Given the description of an element on the screen output the (x, y) to click on. 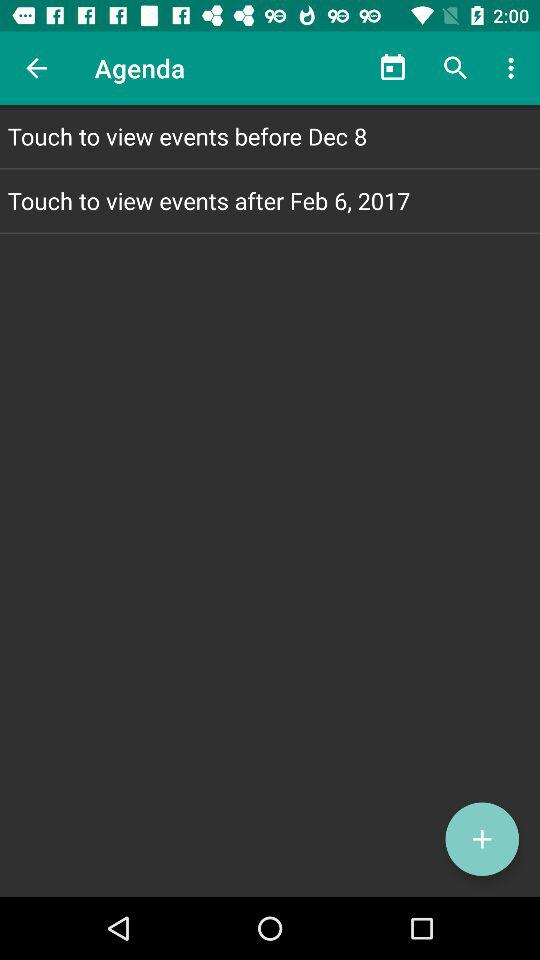
launch item to the left of agenda (36, 68)
